Given the description of an element on the screen output the (x, y) to click on. 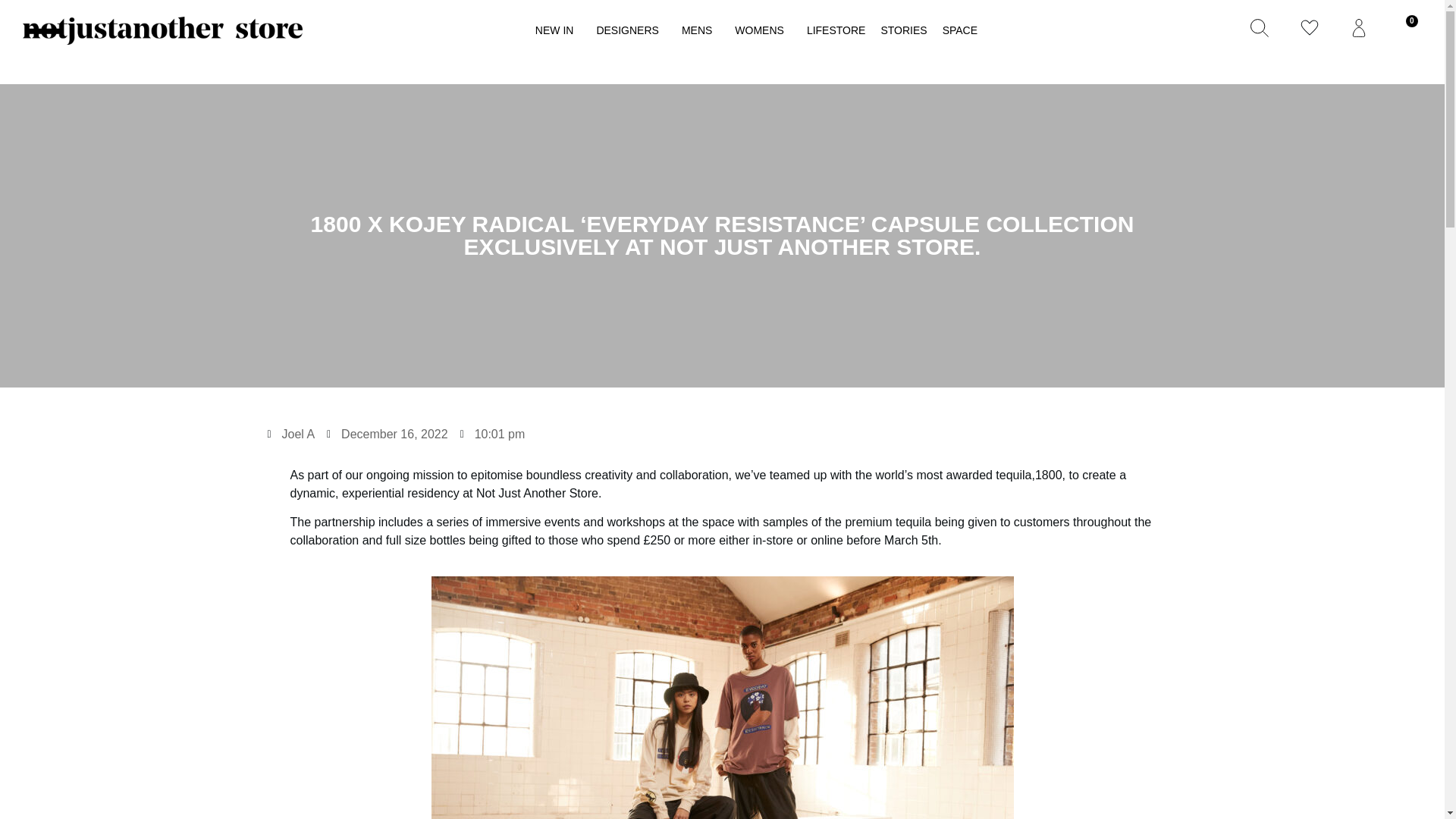
NEW IN (558, 30)
DESIGNERS (630, 30)
